Given the description of an element on the screen output the (x, y) to click on. 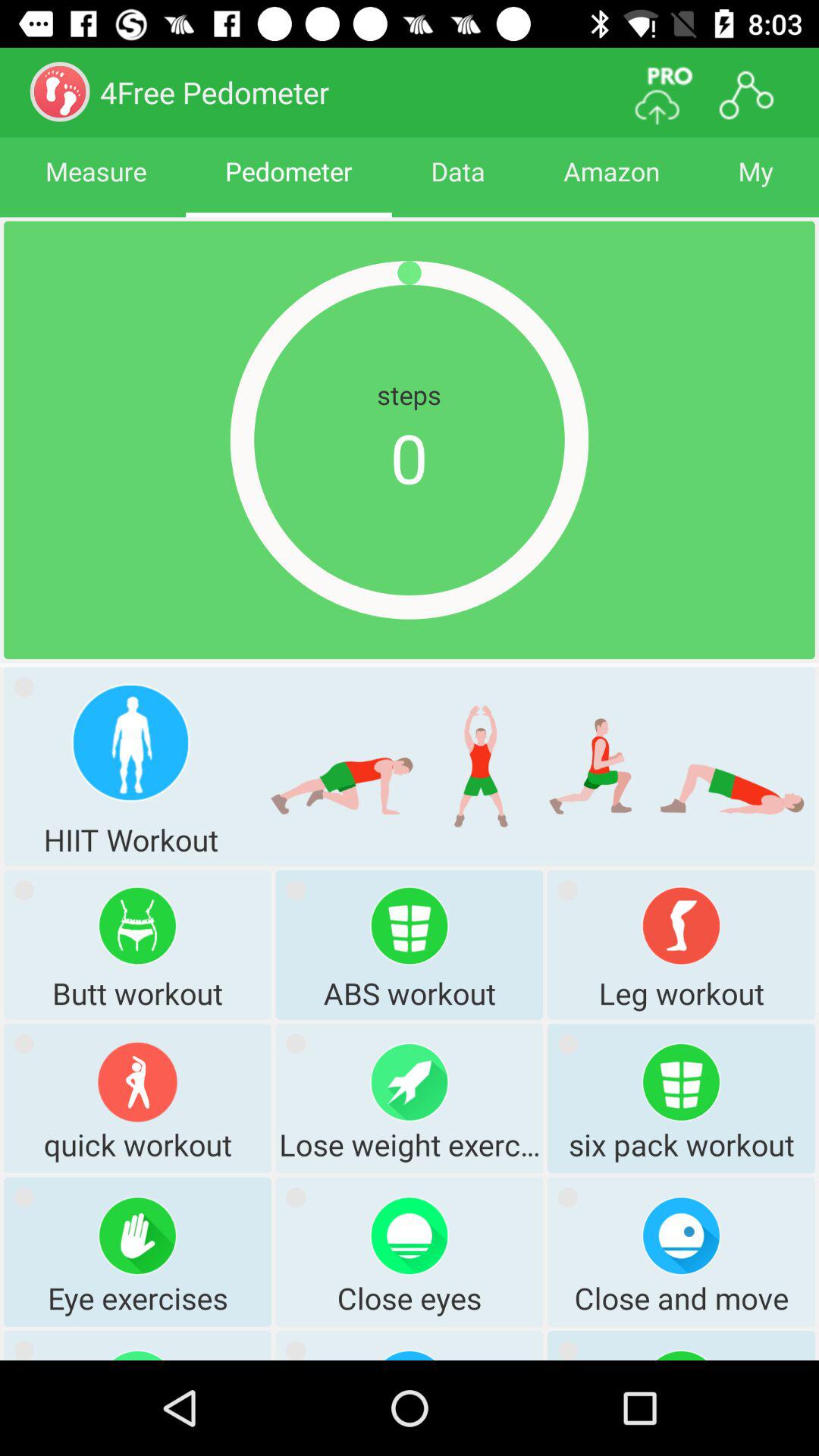
turn off the measure app (95, 185)
